Given the description of an element on the screen output the (x, y) to click on. 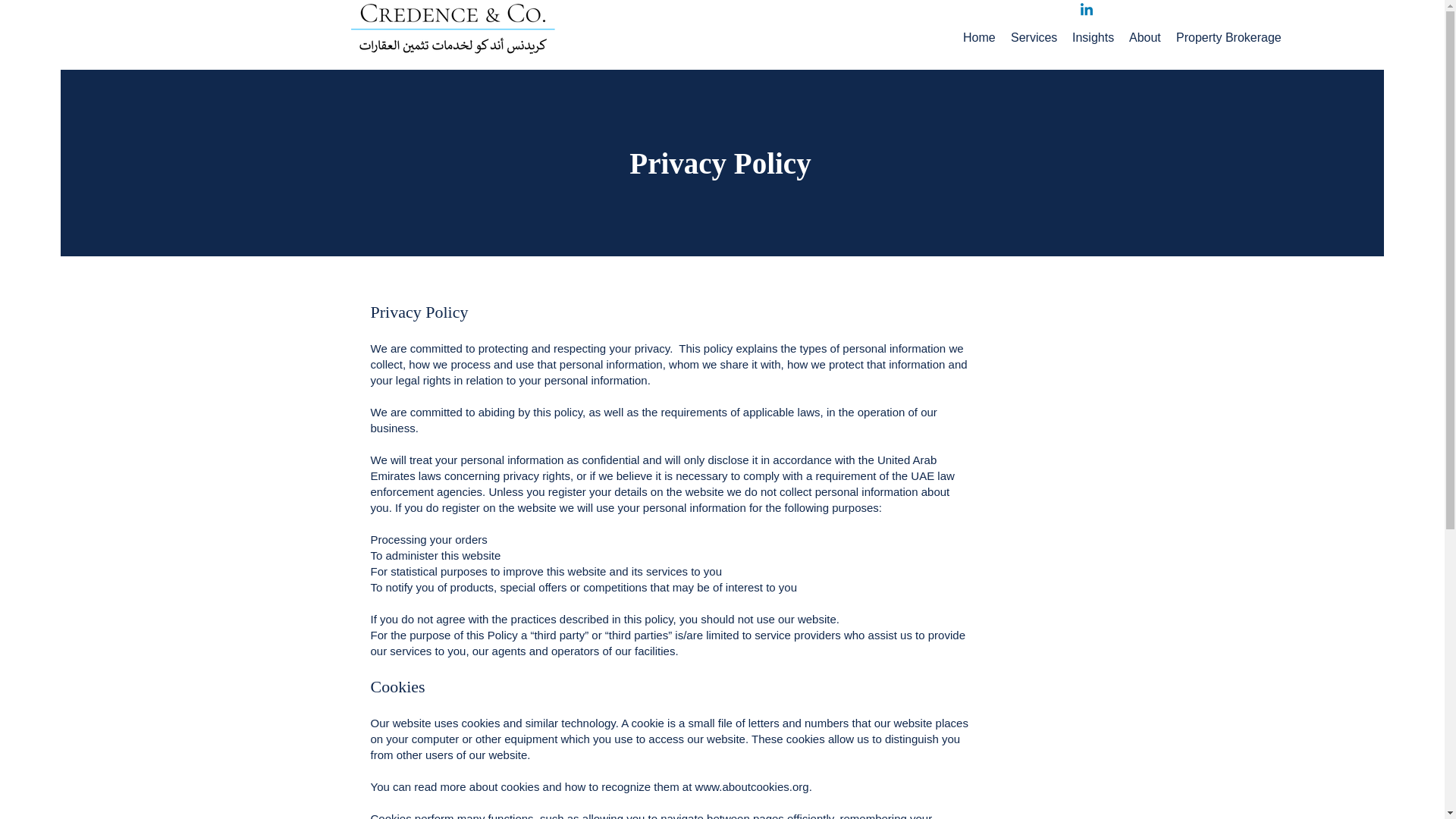
Home (979, 37)
Property Brokerage (1228, 37)
www.aboutcookies.org (752, 786)
